Given the description of an element on the screen output the (x, y) to click on. 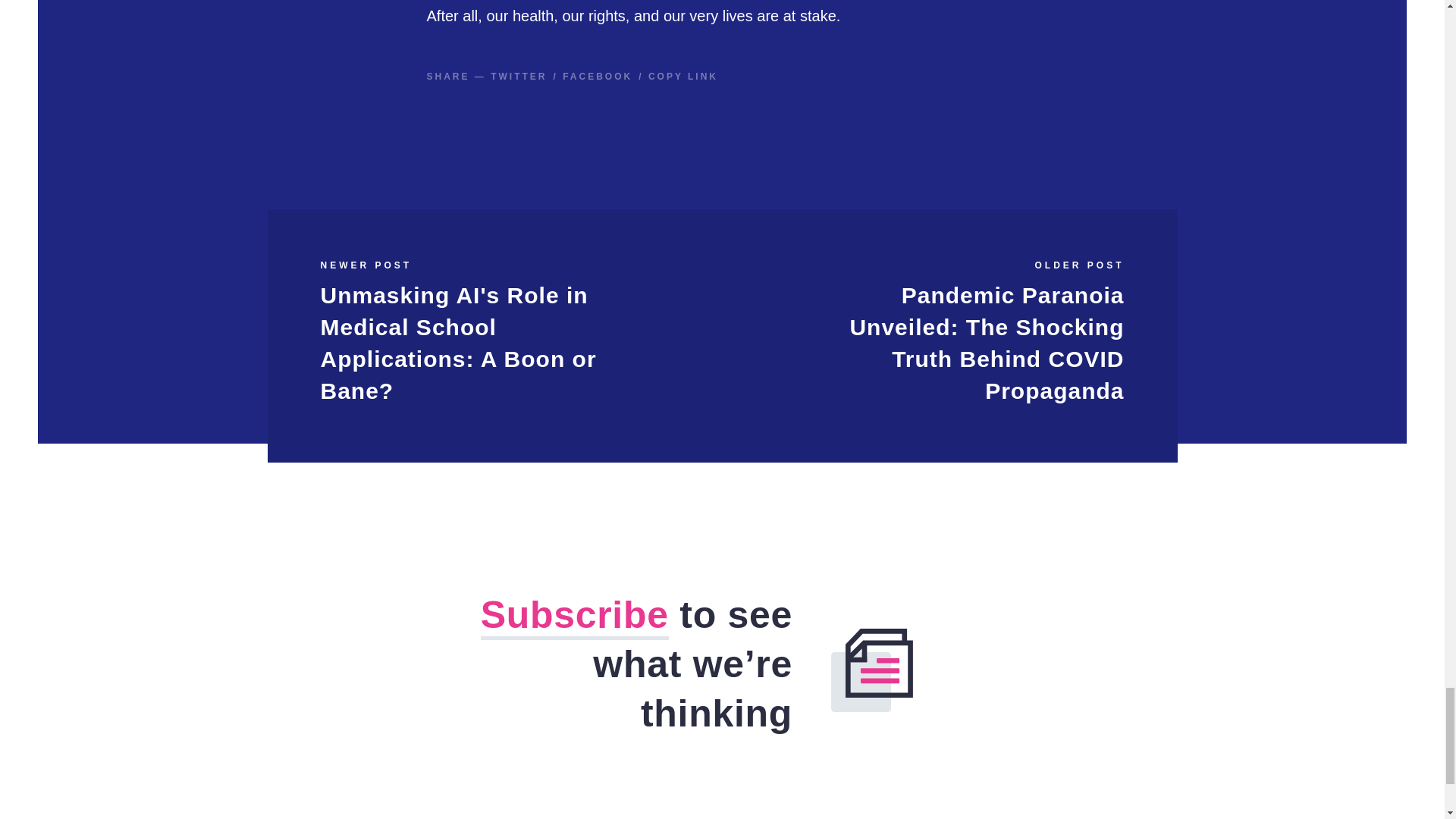
COPY LINK (682, 76)
TWITTER (518, 76)
Subscribe (574, 616)
FACEBOOK (596, 76)
